Given the description of an element on the screen output the (x, y) to click on. 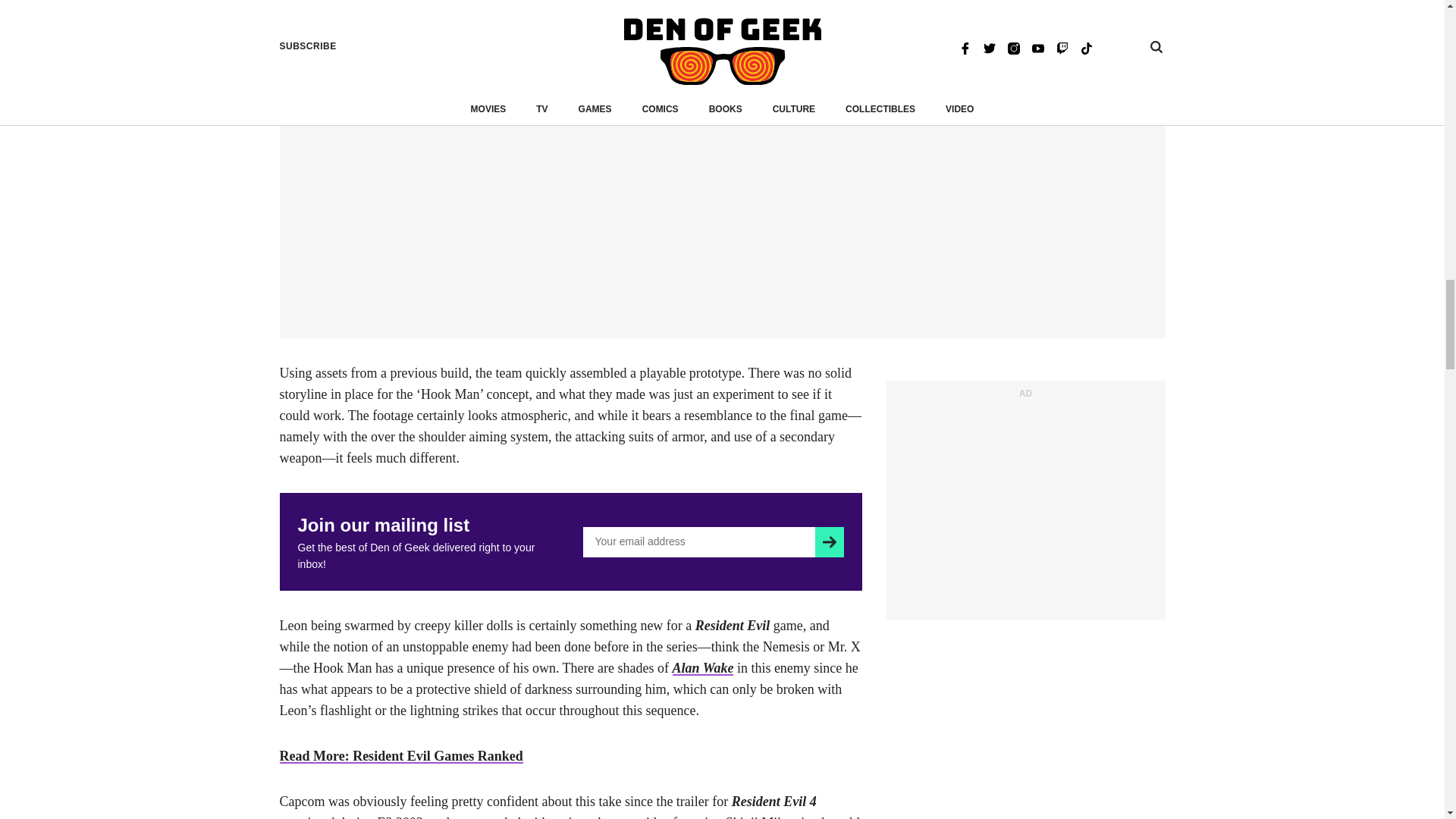
Resident Evil Games Ranked (400, 755)
Alan Wake: Gaming's Greatest Stephen King Story (702, 667)
